Given the description of an element on the screen output the (x, y) to click on. 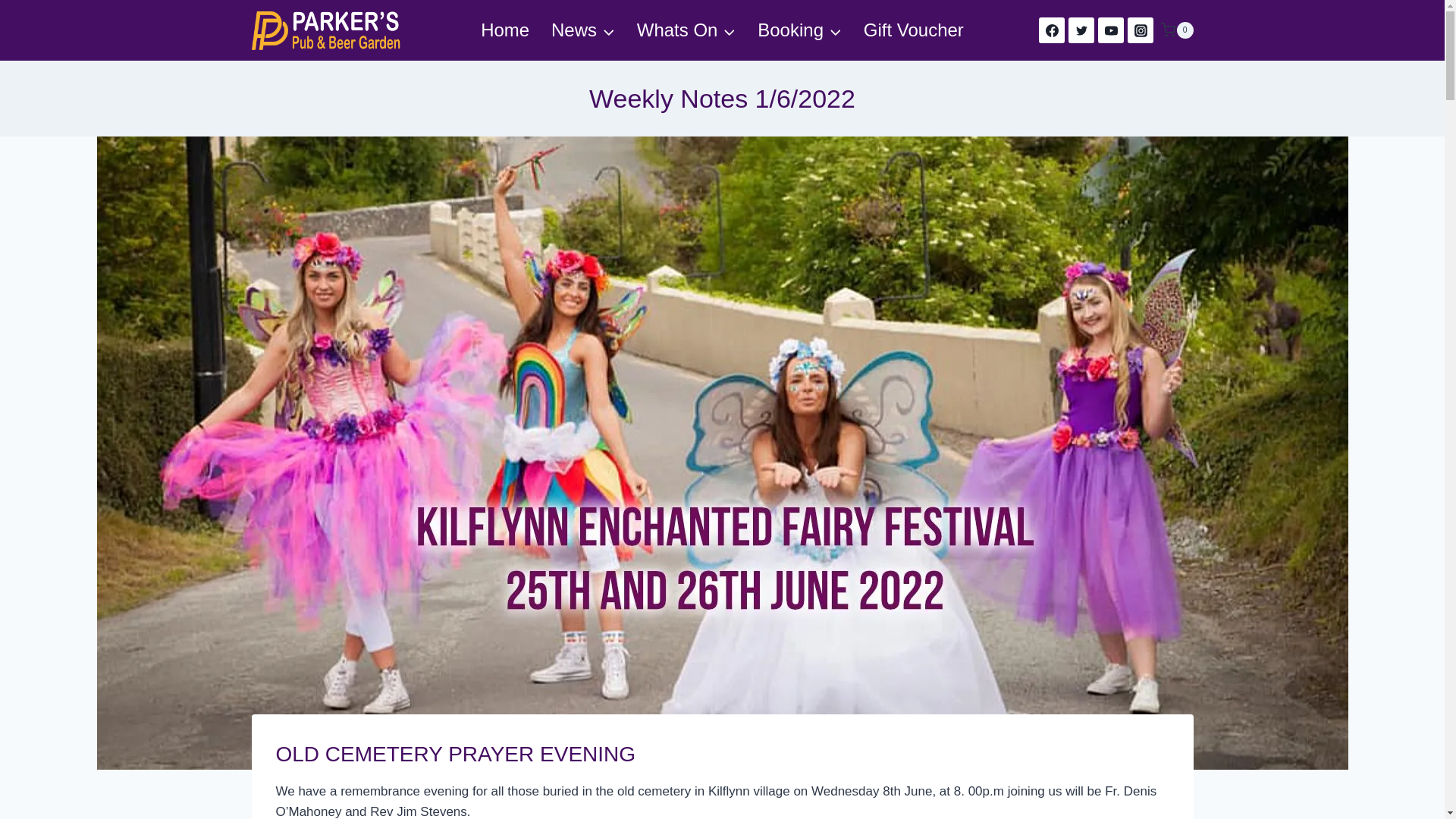
Gift Voucher (912, 29)
Whats On (685, 29)
0 (1176, 30)
News (583, 29)
Booking (799, 29)
Home (505, 29)
